Given the description of an element on the screen output the (x, y) to click on. 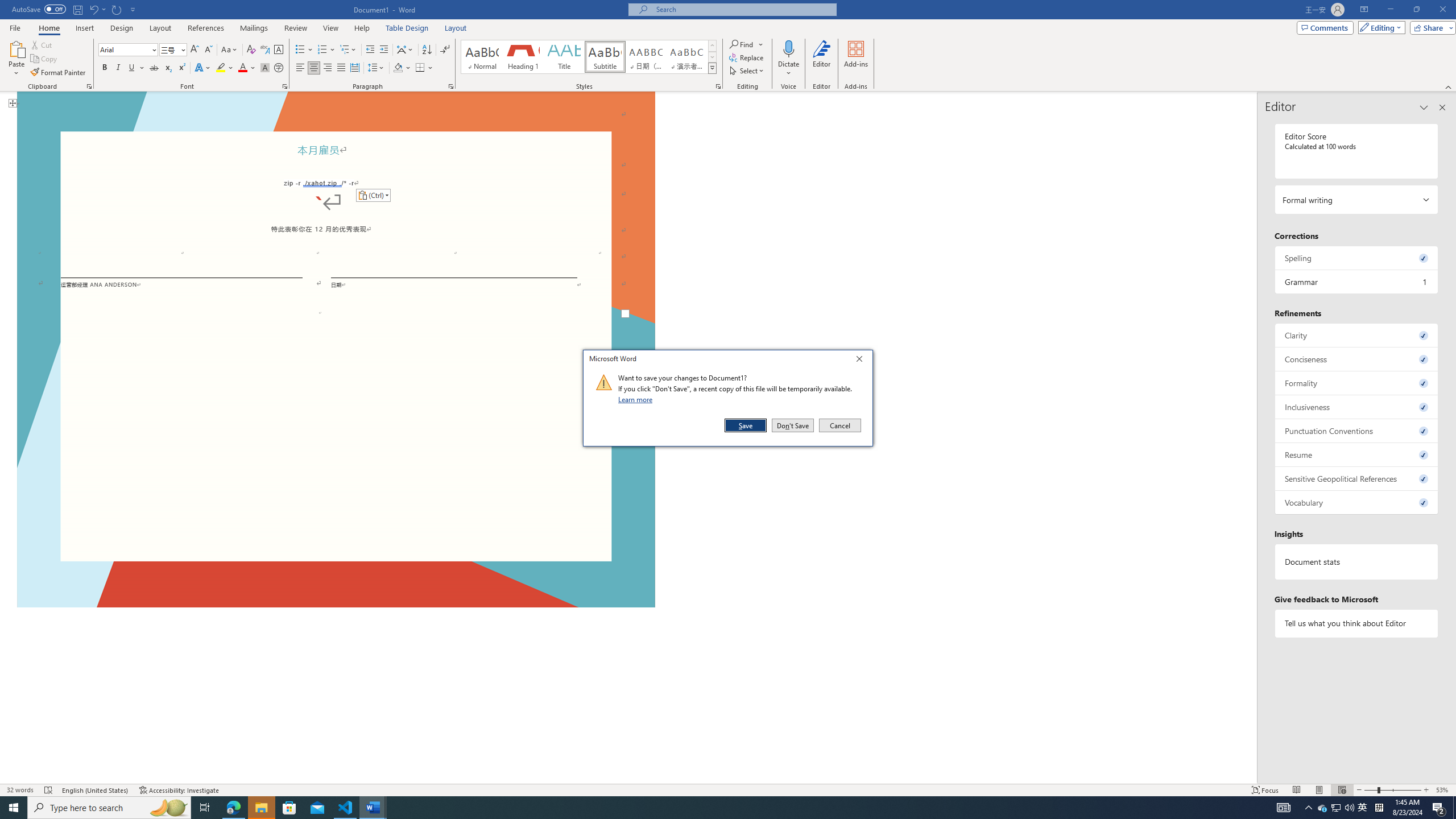
Document statistics (1356, 561)
